Given the description of an element on the screen output the (x, y) to click on. 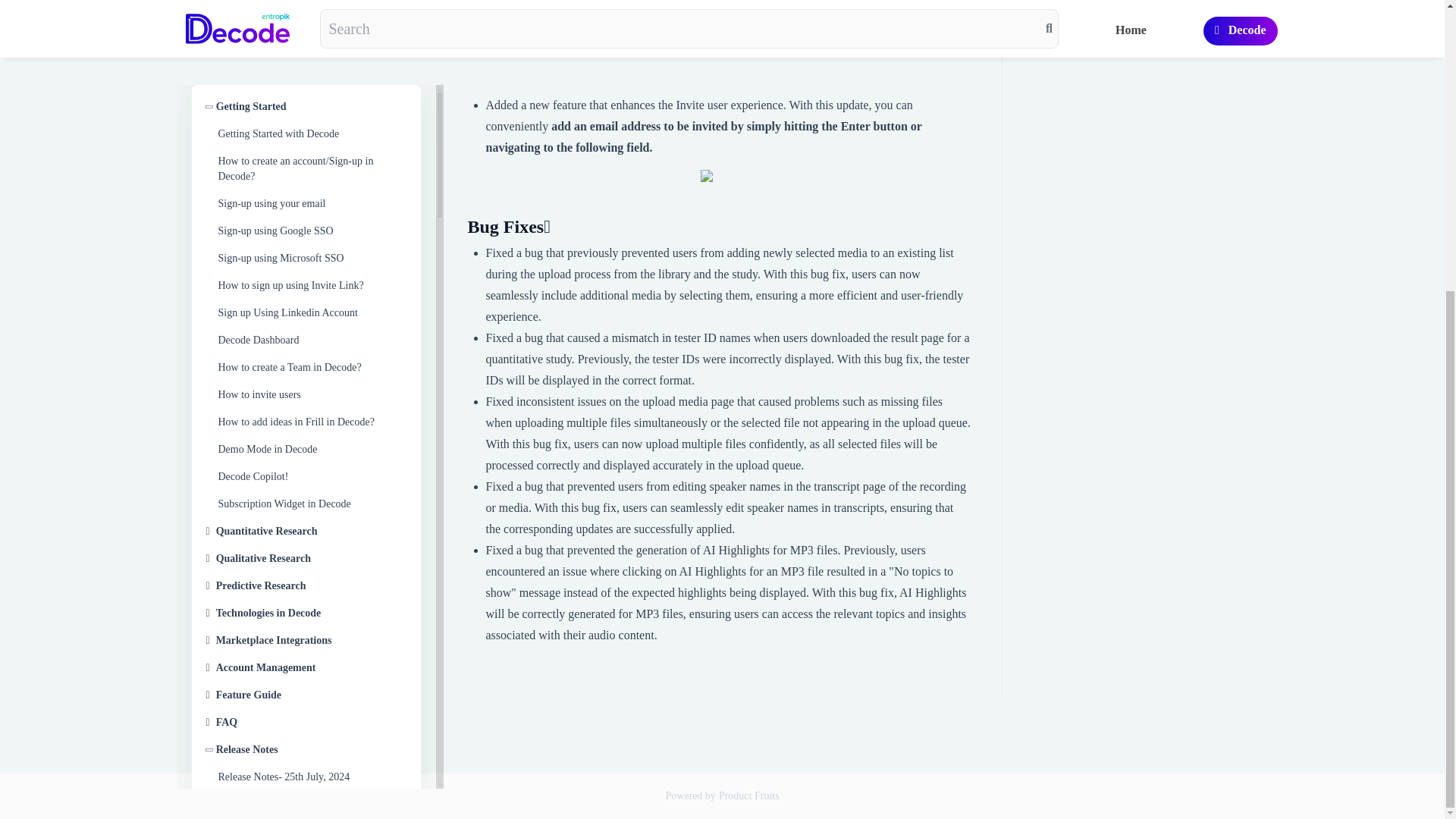
Subscription Widget in Decode (312, 60)
Demo Mode in Decode (312, 8)
Decode Copilot! (312, 33)
